Given the description of an element on the screen output the (x, y) to click on. 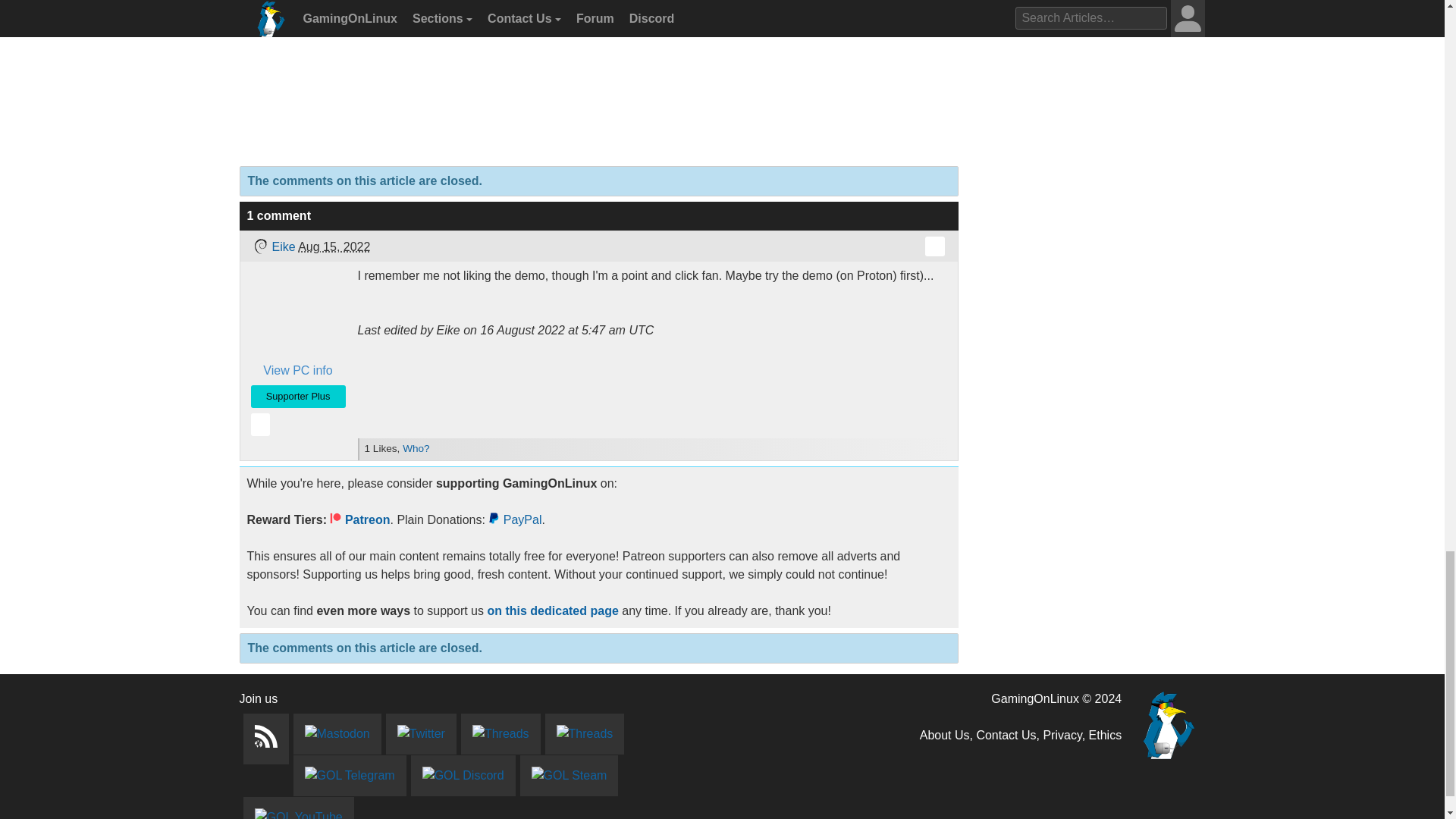
Twitter (421, 733)
Steam Community (568, 775)
Mastodon (336, 733)
Discord (462, 775)
Bluesky (584, 733)
Threads (500, 733)
Debian (259, 246)
RSS Feeds (265, 738)
Telegram (349, 775)
Link to this comment (934, 246)
